Given the description of an element on the screen output the (x, y) to click on. 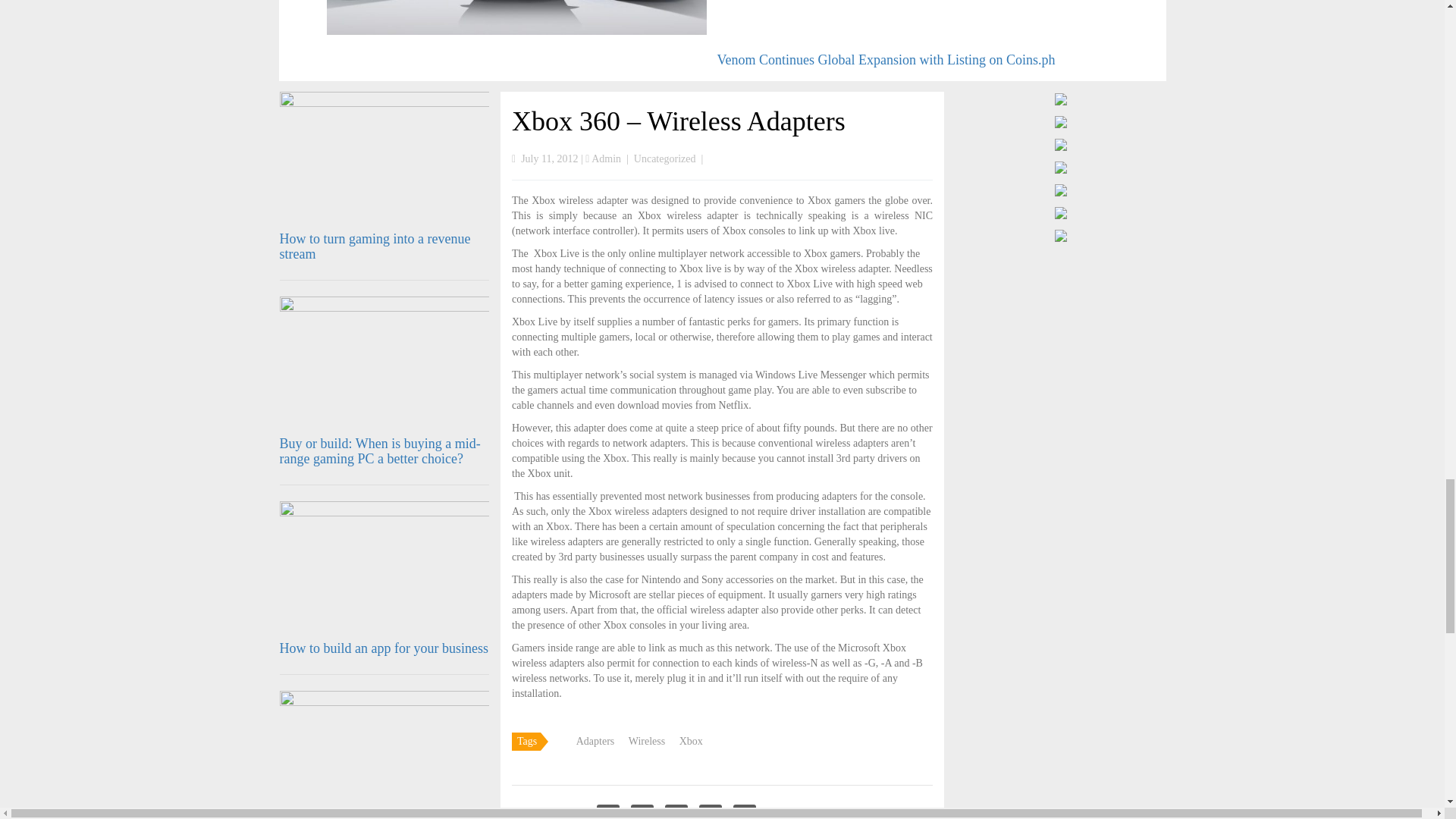
Venom Continues Global Expansion with Listing on Coins.ph (886, 59)
Share on Facebook (608, 811)
How to turn gaming into a revenue stream (374, 245)
How to build an app for your business (383, 648)
Venom Continues Global Expansion with Listing on Coins.ph (886, 59)
Posts by Admin (606, 158)
